Given the description of an element on the screen output the (x, y) to click on. 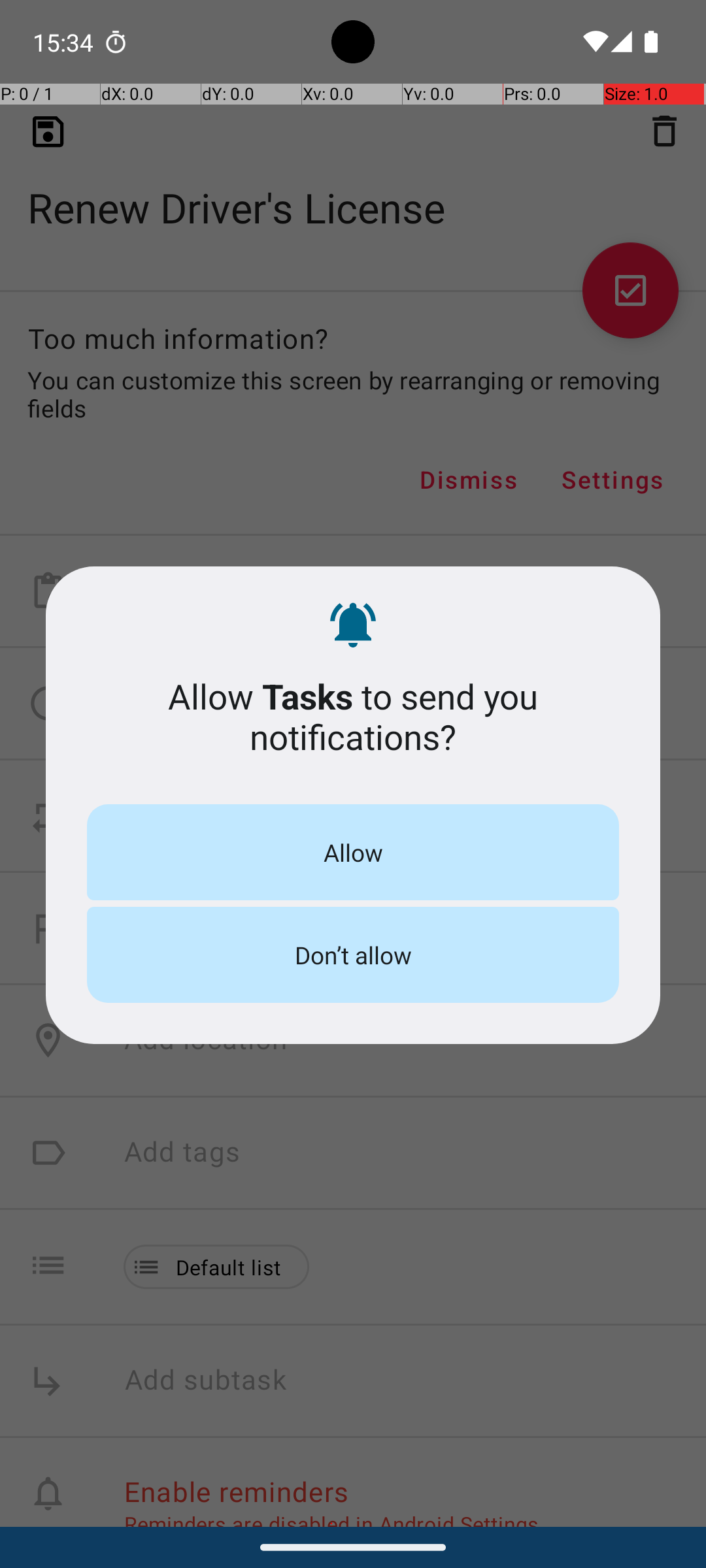
Allow Tasks to send you notifications? Element type: android.widget.TextView (352, 715)
